Given the description of an element on the screen output the (x, y) to click on. 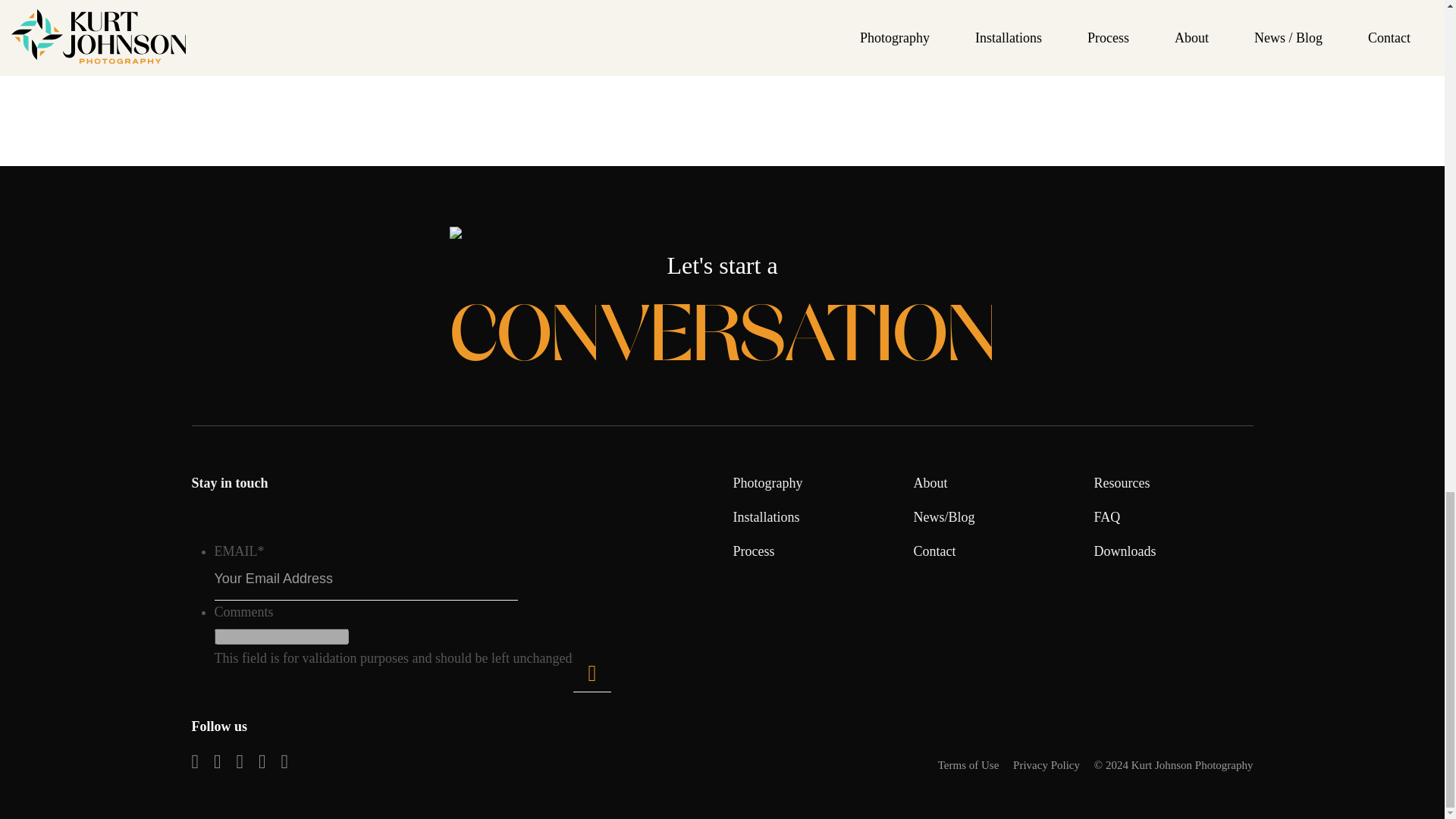
Downloads (1124, 550)
Process (753, 550)
Resources (1121, 482)
Contact (933, 550)
FAQ (1106, 516)
Photography (767, 482)
Installations (765, 516)
About (929, 482)
